Given the description of an element on the screen output the (x, y) to click on. 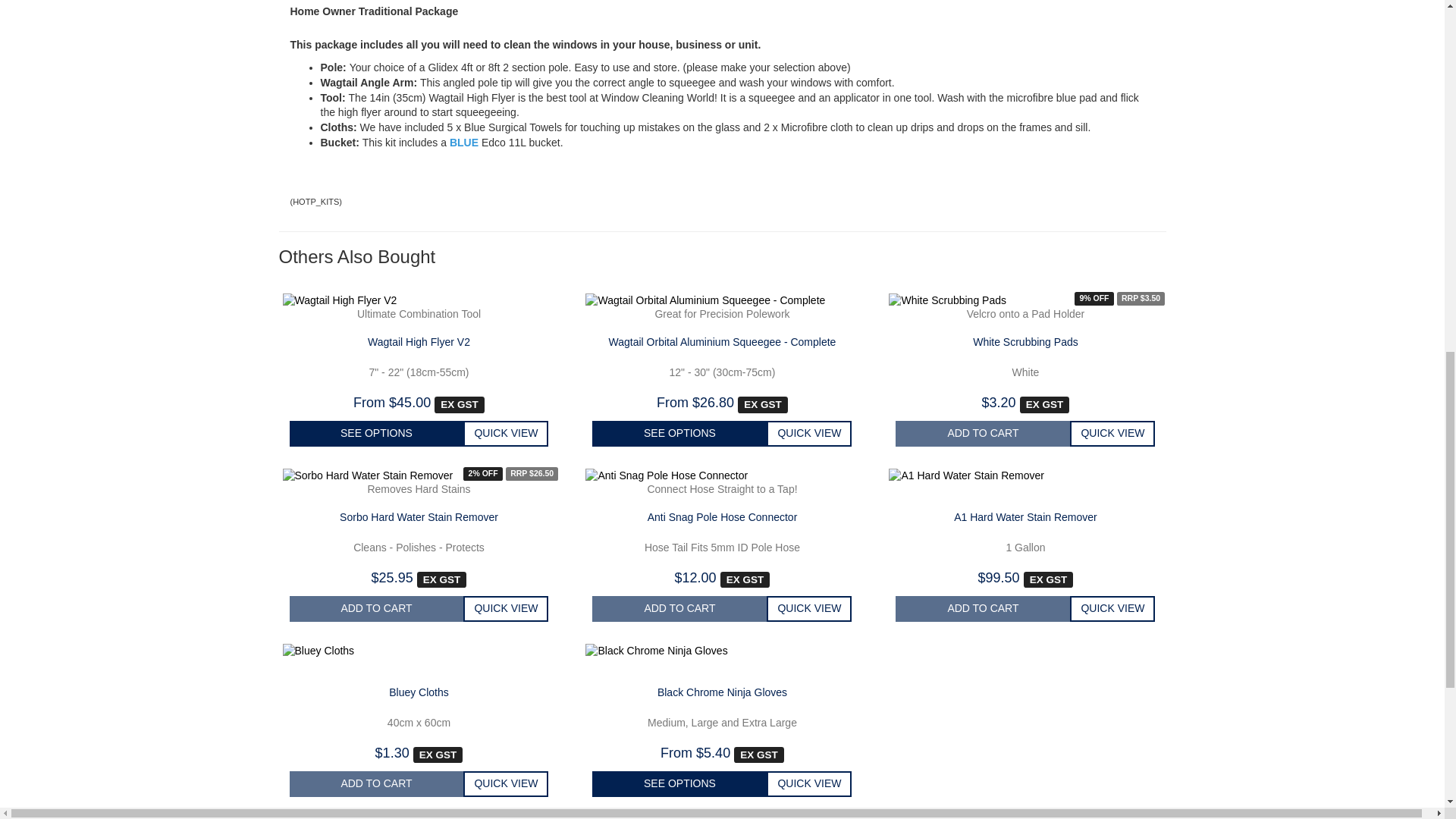
Buying Options (679, 433)
Wagtail High Flyer V2 (419, 341)
Add to Cart (982, 433)
Add to Cart (376, 608)
White Scrubbing Pads (1025, 341)
Buying Options (376, 433)
Add to Cart (679, 608)
Anti Snag Pole Hose Connector (722, 517)
Wagtail Orbital Aluminium Squeegee - Complete (721, 341)
Sorbo Hard Water Stain Remover (418, 517)
